Given the description of an element on the screen output the (x, y) to click on. 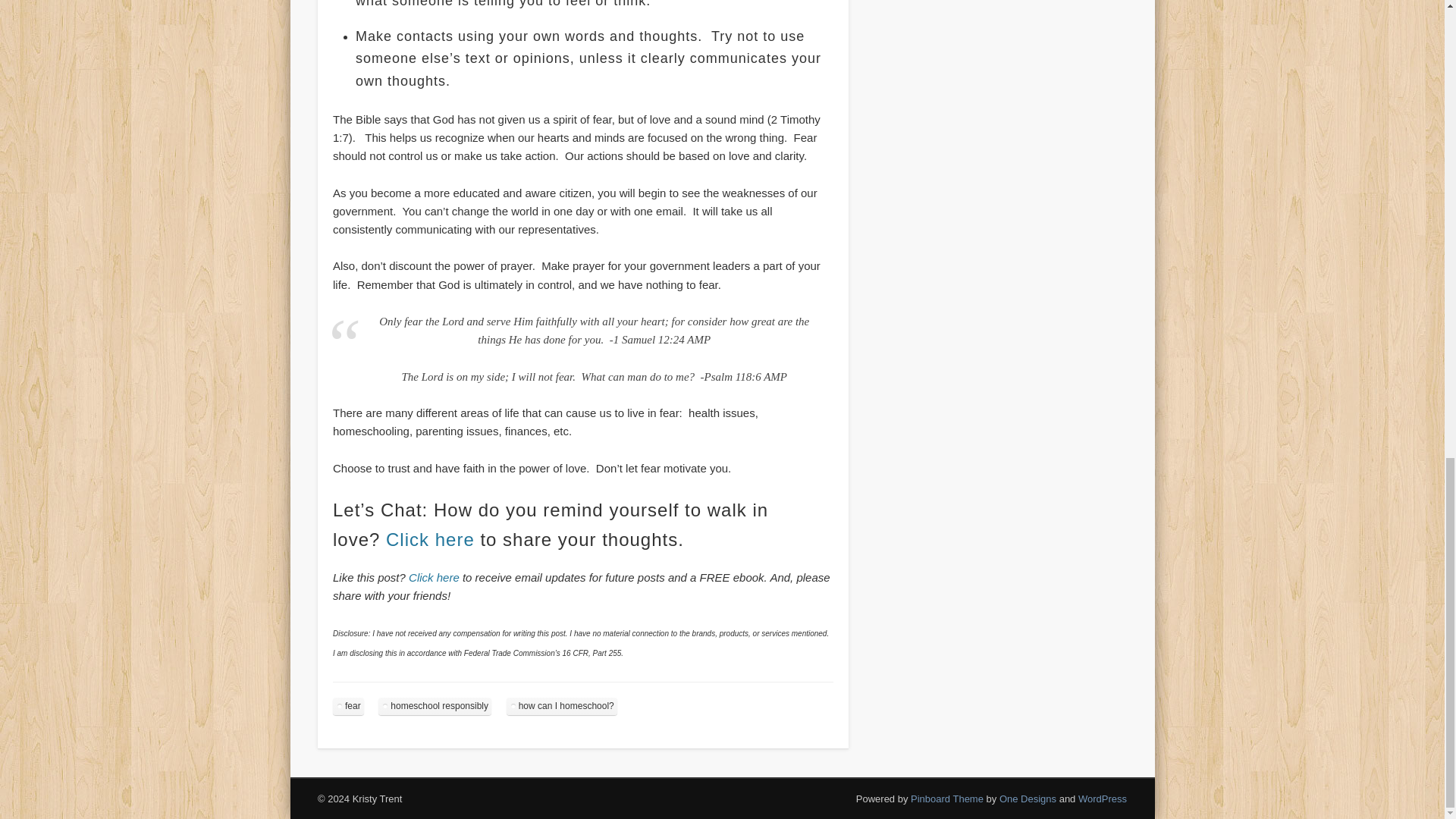
Get updates to my blog via email (434, 576)
fear (348, 705)
how can I homeschool? (561, 705)
Pinboard Theme (947, 798)
WordPress (1102, 798)
Pinboard Theme (947, 798)
Click here (434, 576)
One Designs (1027, 798)
homeschool responsibly (435, 705)
One Designs (1027, 798)
WordPress (1102, 798)
Click here (429, 539)
Share Your Thoughts (429, 539)
